Given the description of an element on the screen output the (x, y) to click on. 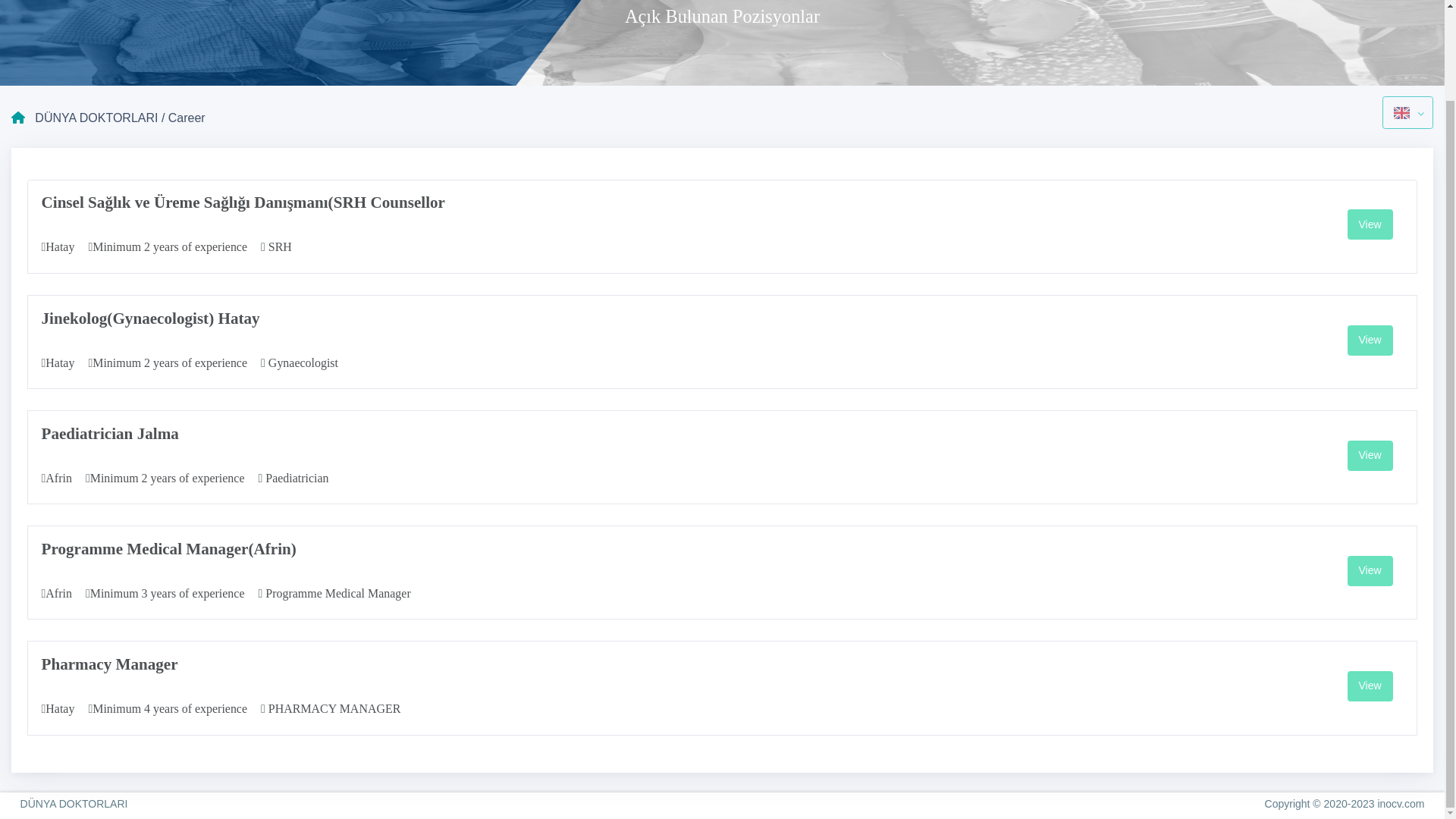
View (1368, 340)
View (1368, 571)
View (1368, 455)
View (1368, 224)
View (1368, 685)
